Given the description of an element on the screen output the (x, y) to click on. 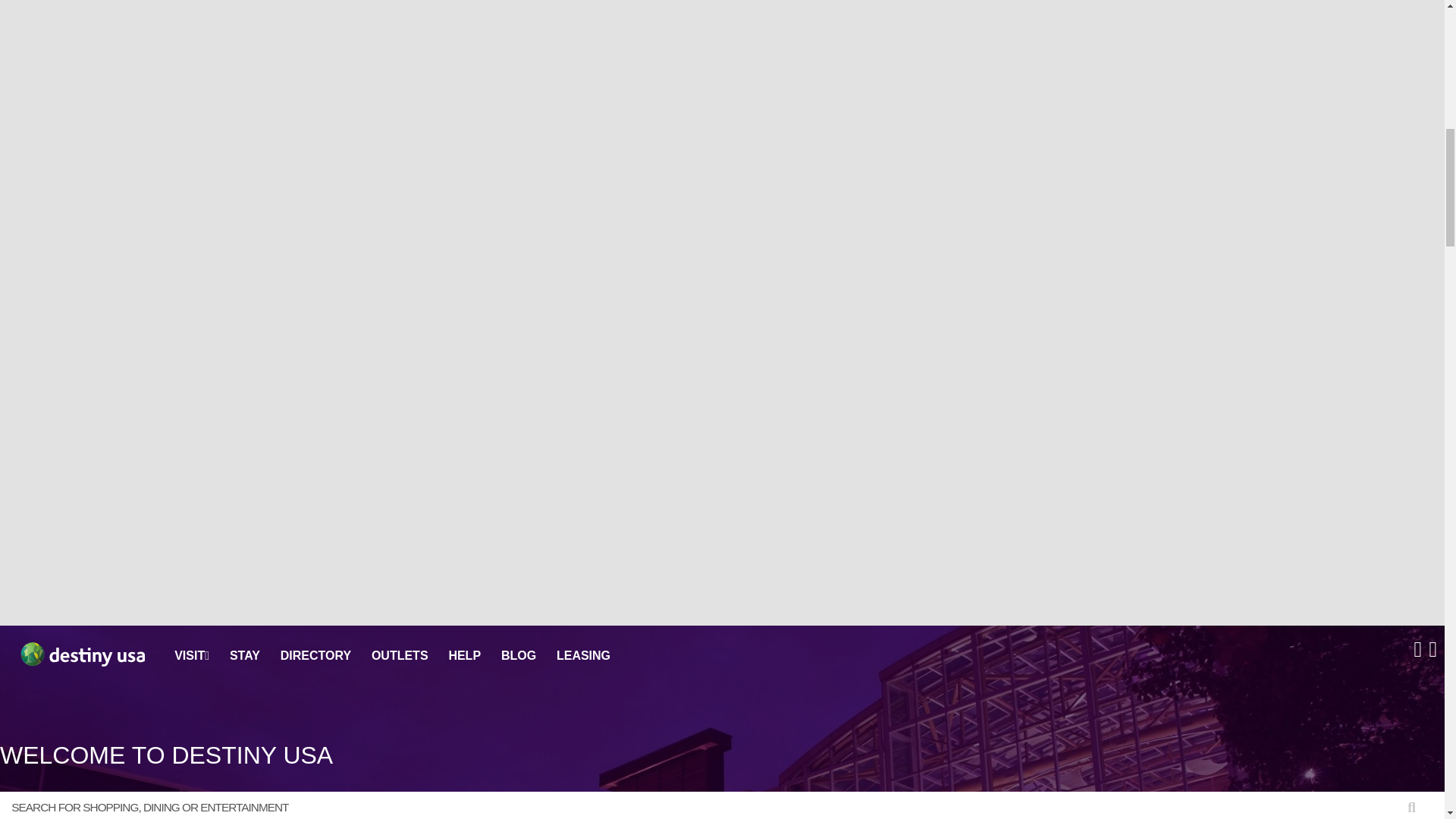
Destiny USA Logo (77, 655)
HELP (464, 657)
LEASING (583, 657)
BLOG (517, 657)
Destiny USA (77, 655)
STAY (245, 657)
VISIT (191, 655)
DIRECTORY (315, 657)
OUTLETS (399, 657)
MALL HOURS (1427, 652)
